Given the description of an element on the screen output the (x, y) to click on. 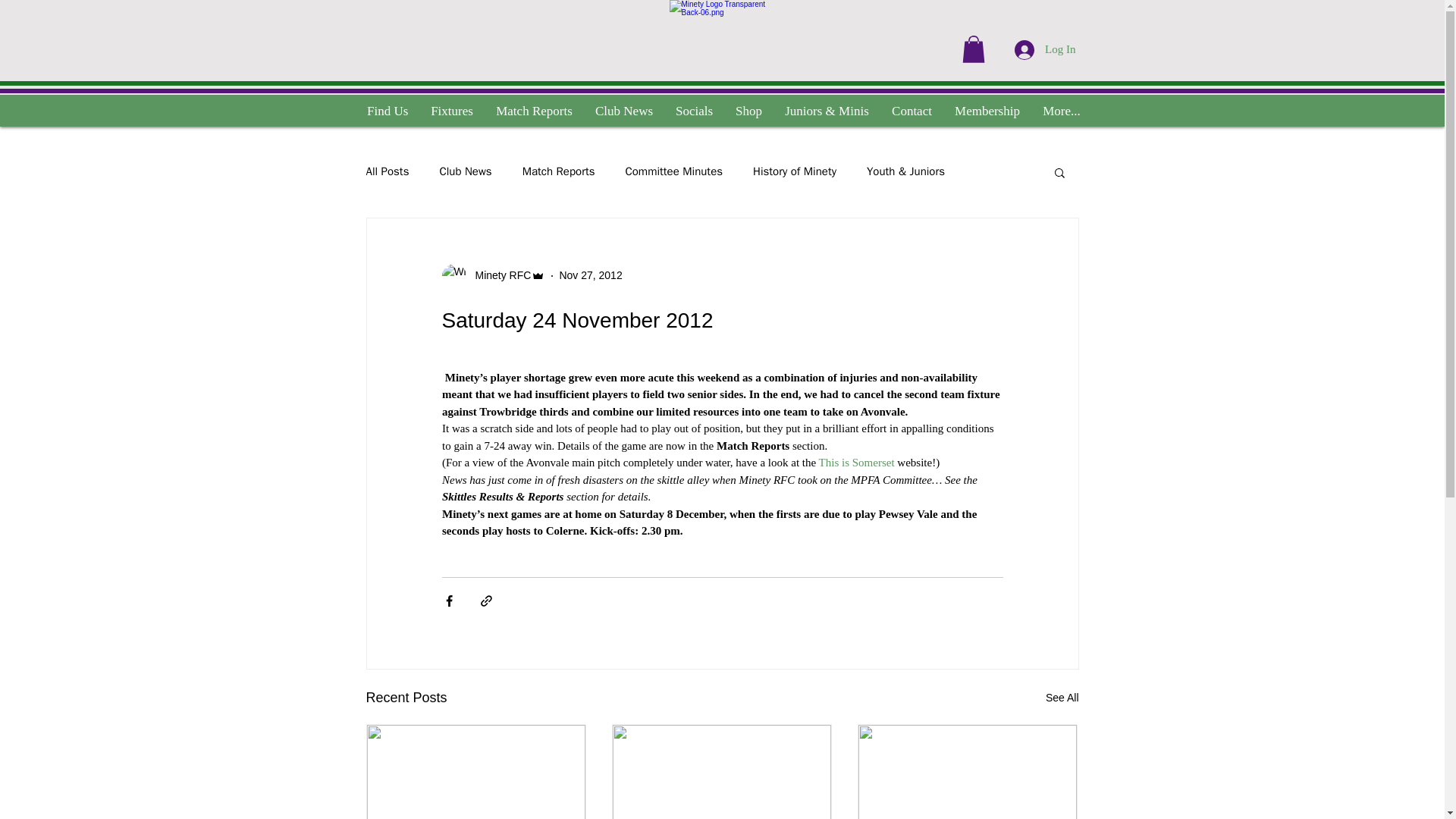
Minety RFC (498, 275)
Minety RFC (492, 275)
Find Us (387, 110)
Membership (986, 110)
Shop (748, 110)
Contact (911, 110)
This is Somerset (855, 462)
Log In (1045, 49)
All Posts (387, 171)
Club News (623, 110)
